Given the description of an element on the screen output the (x, y) to click on. 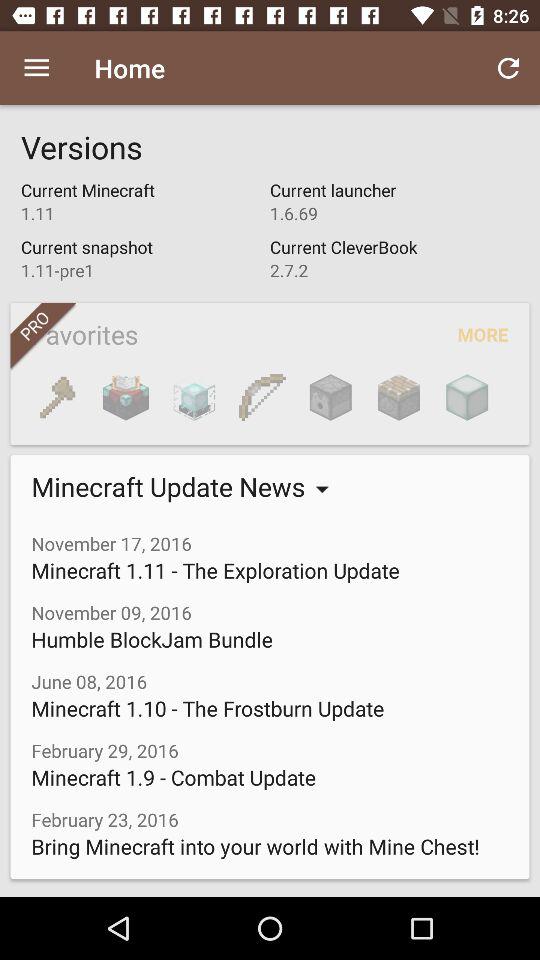
press icon below favorites (125, 397)
